Given the description of an element on the screen output the (x, y) to click on. 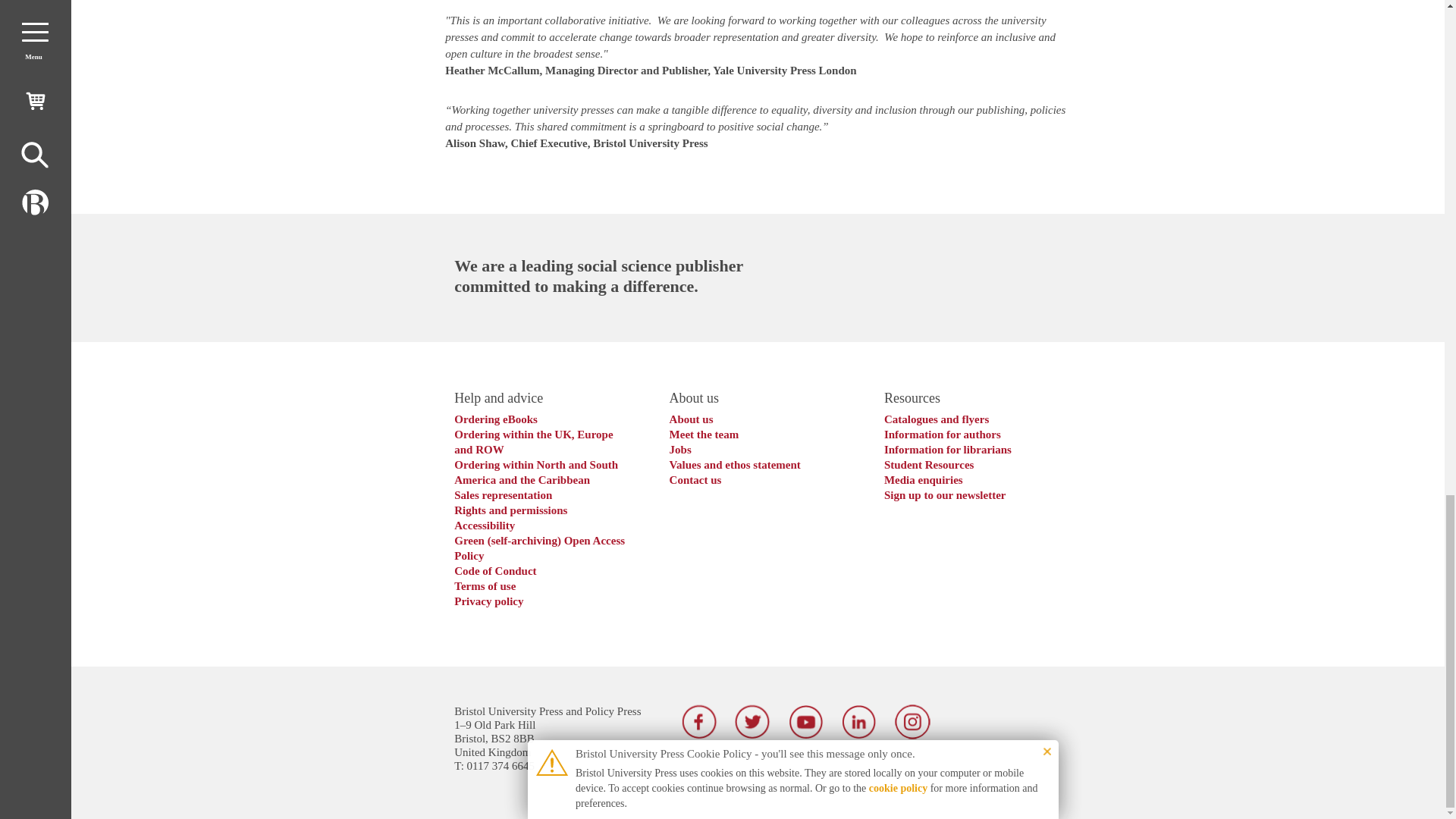
Facebook page (699, 722)
Twitter page (752, 722)
YouTube page (806, 722)
Instagram page (912, 722)
LinkedIn page (859, 722)
